Given the description of an element on the screen output the (x, y) to click on. 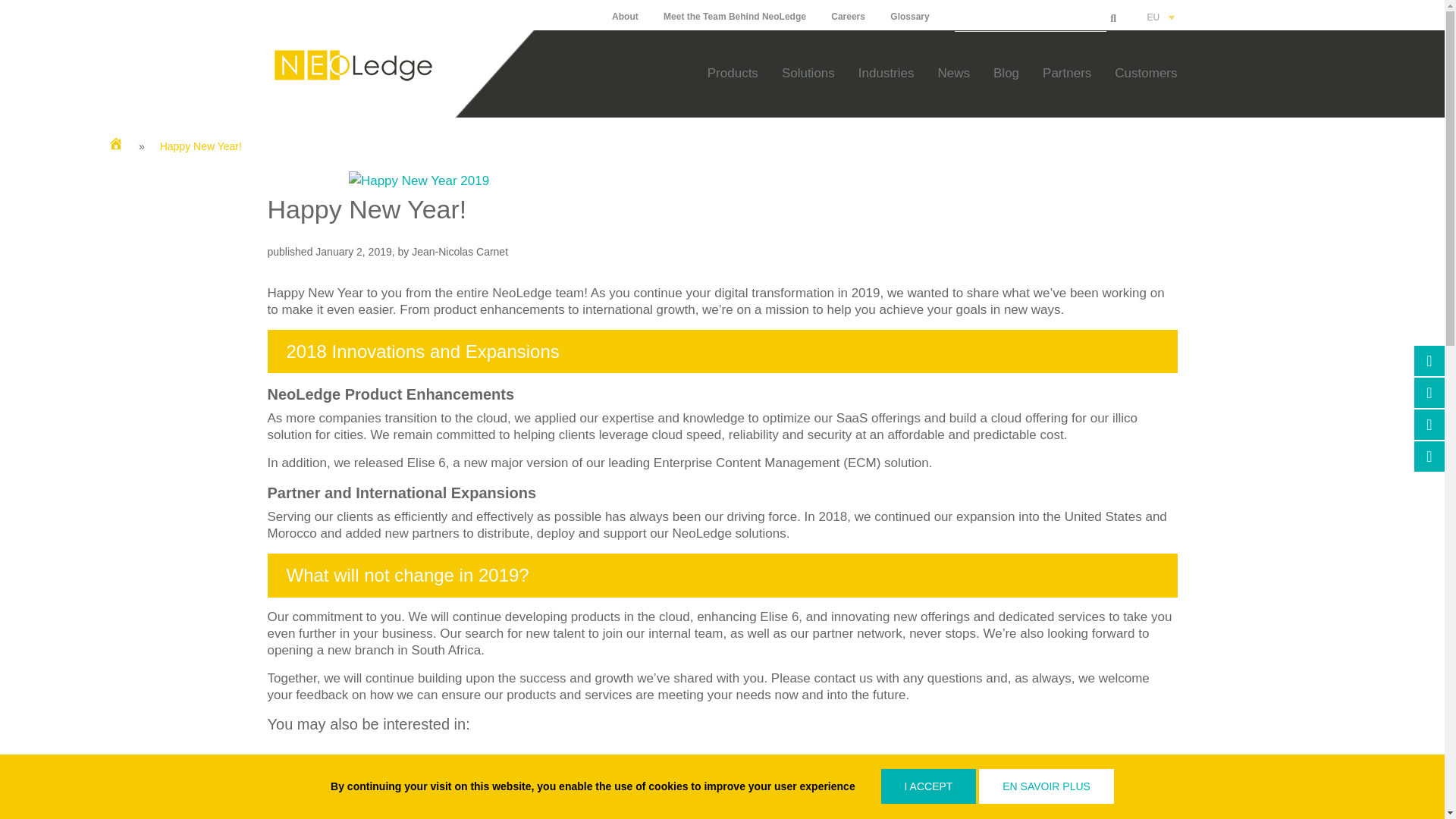
About (625, 17)
actu-new-year-2019 (419, 180)
Solutions (807, 73)
Meet the Team Behind NeoLedge (734, 17)
Careers (847, 17)
Industries (886, 73)
Blog (1006, 73)
Products (732, 73)
NeoLedge (352, 83)
Glossary (908, 17)
Partners (1066, 73)
NeoLedge (352, 64)
Search (1030, 20)
News (953, 73)
